Given the description of an element on the screen output the (x, y) to click on. 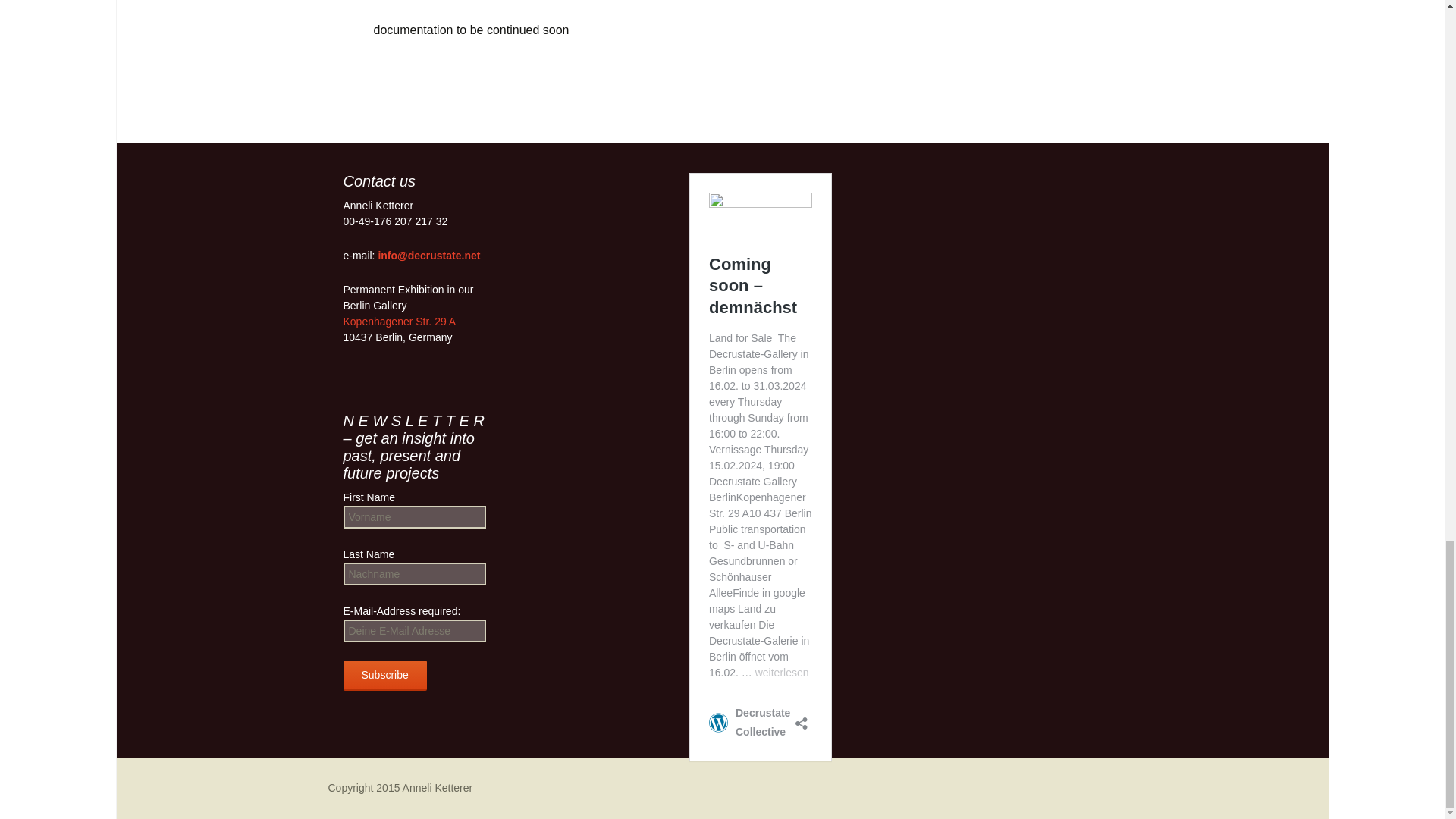
Subscribe (384, 675)
Anneli Ketterer Decrustate (399, 787)
